Given the description of an element on the screen output the (x, y) to click on. 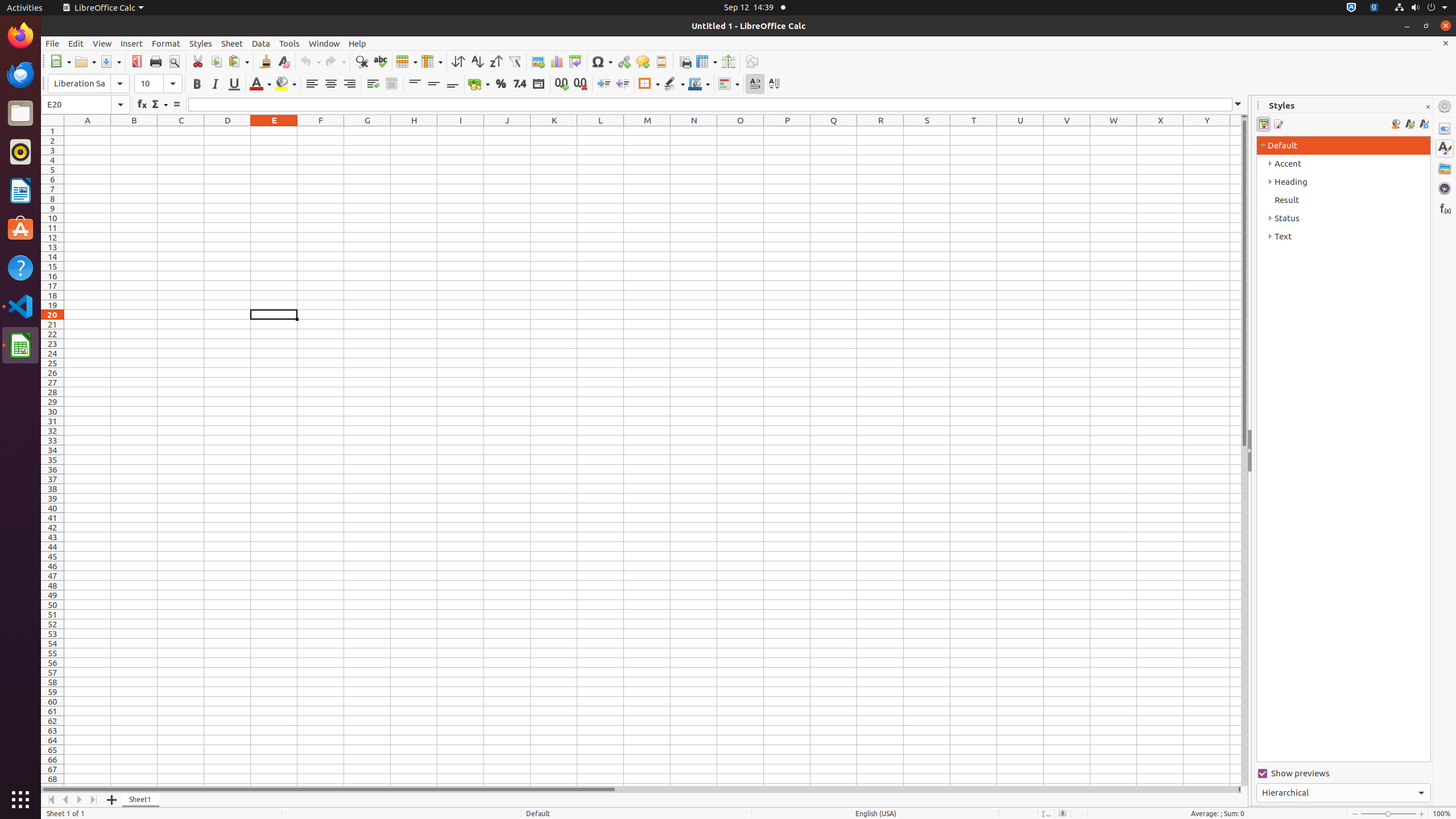
B1 Element type: table-cell (133, 130)
C1 Element type: table-cell (180, 130)
Expand Formula Bar Element type: push-button (1237, 104)
Undo Element type: push-button (309, 61)
Open Element type: push-button (84, 61)
